Given the description of an element on the screen output the (x, y) to click on. 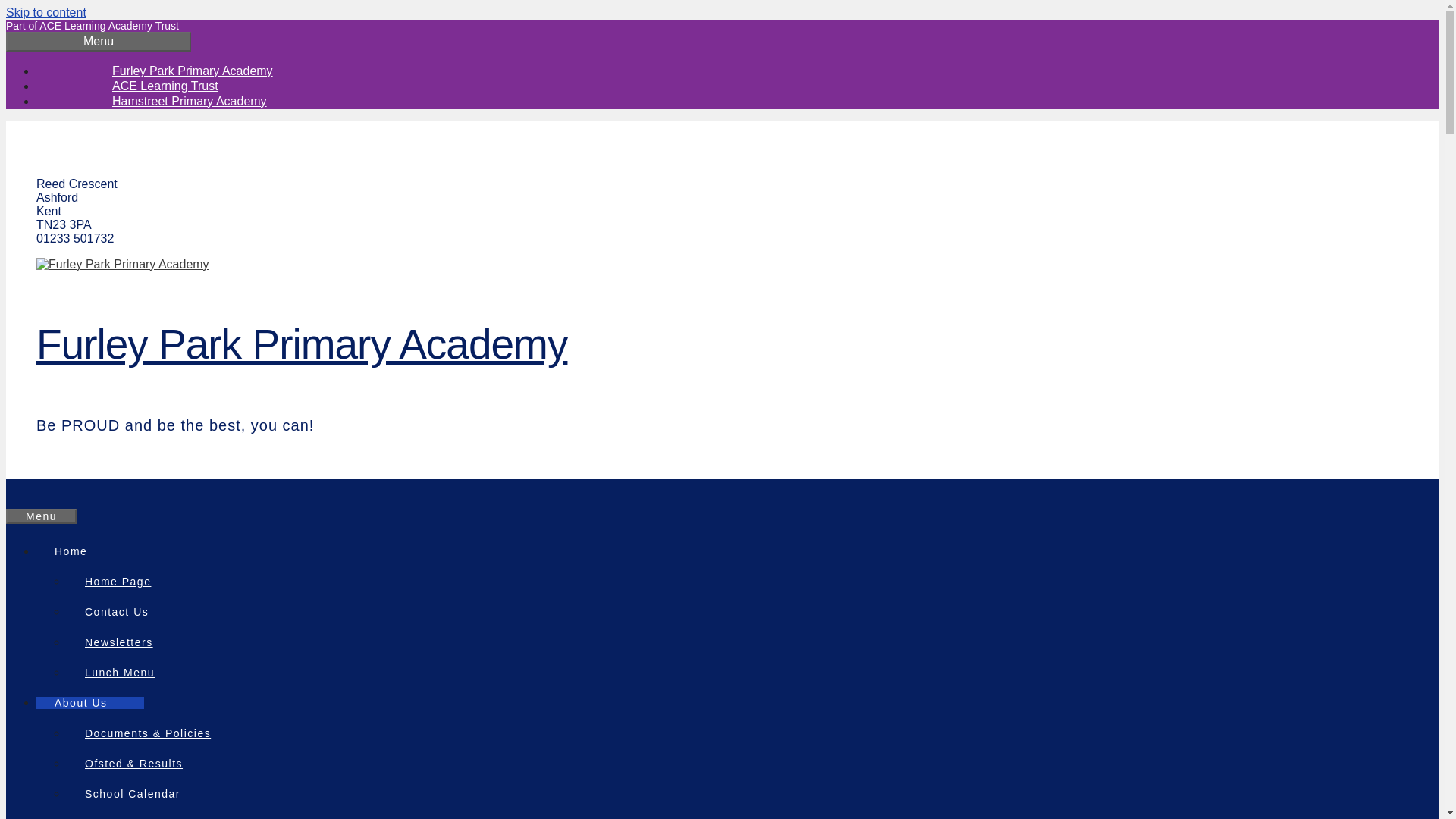
Skip to content (45, 11)
Contact Us (116, 610)
About Us (90, 702)
Furley Park Primary Academy (192, 70)
School Calendar (132, 792)
Home (79, 550)
Menu (41, 515)
Hamstreet Primary Academy (189, 101)
Lunch Menu (119, 671)
Menu (97, 41)
ACE Learning Trust (165, 85)
Newsletters (118, 641)
Term Dates (117, 814)
Home Page (117, 580)
Furley Park Primary Academy (301, 344)
